Given the description of an element on the screen output the (x, y) to click on. 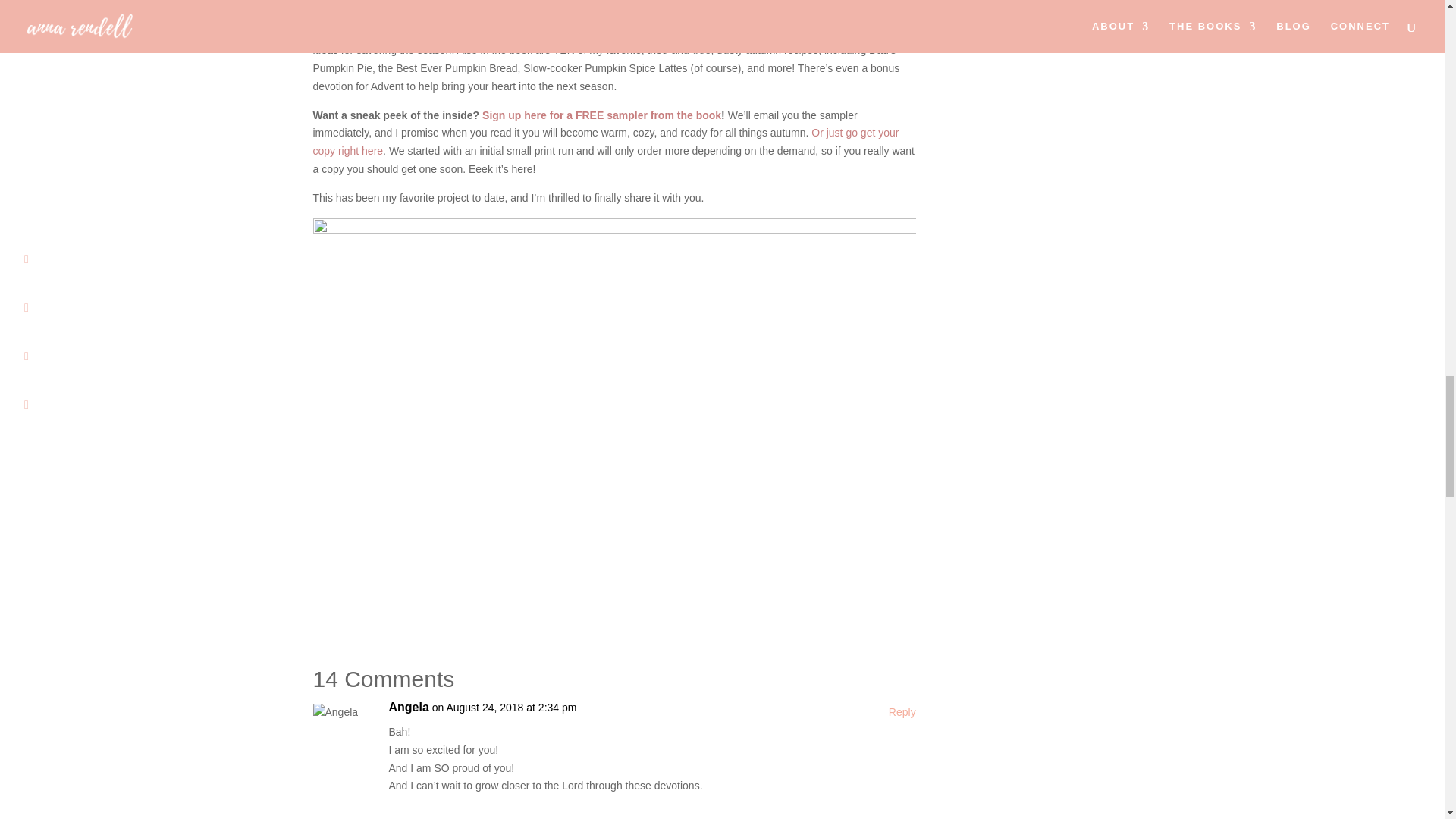
Sign up here for a FREE sampler from the book (600, 114)
Or just go get your copy right here (605, 141)
Reply (901, 712)
